Given the description of an element on the screen output the (x, y) to click on. 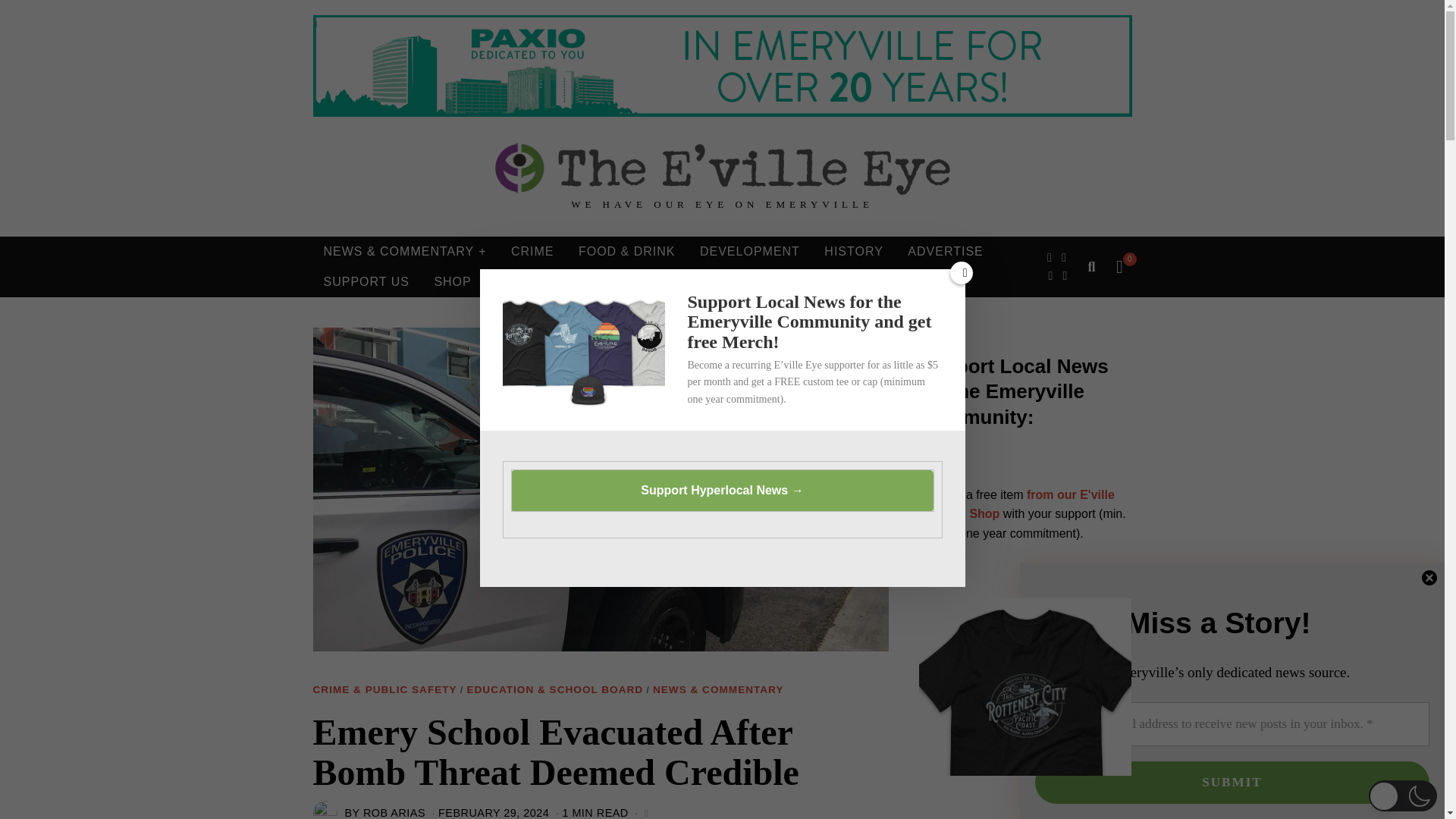
YouTube (1064, 275)
ADVERTISE (944, 251)
CRIME (532, 251)
Facebook (1049, 257)
Submit (1232, 782)
Paxio Leaderboard (722, 66)
Submit (1232, 782)
Instagram (1051, 275)
SUPPORT US (366, 281)
HISTORY (853, 251)
ROB ARIAS (393, 812)
Twitter (1064, 257)
DEVELOPMENT (749, 251)
0 (1118, 266)
